Given the description of an element on the screen output the (x, y) to click on. 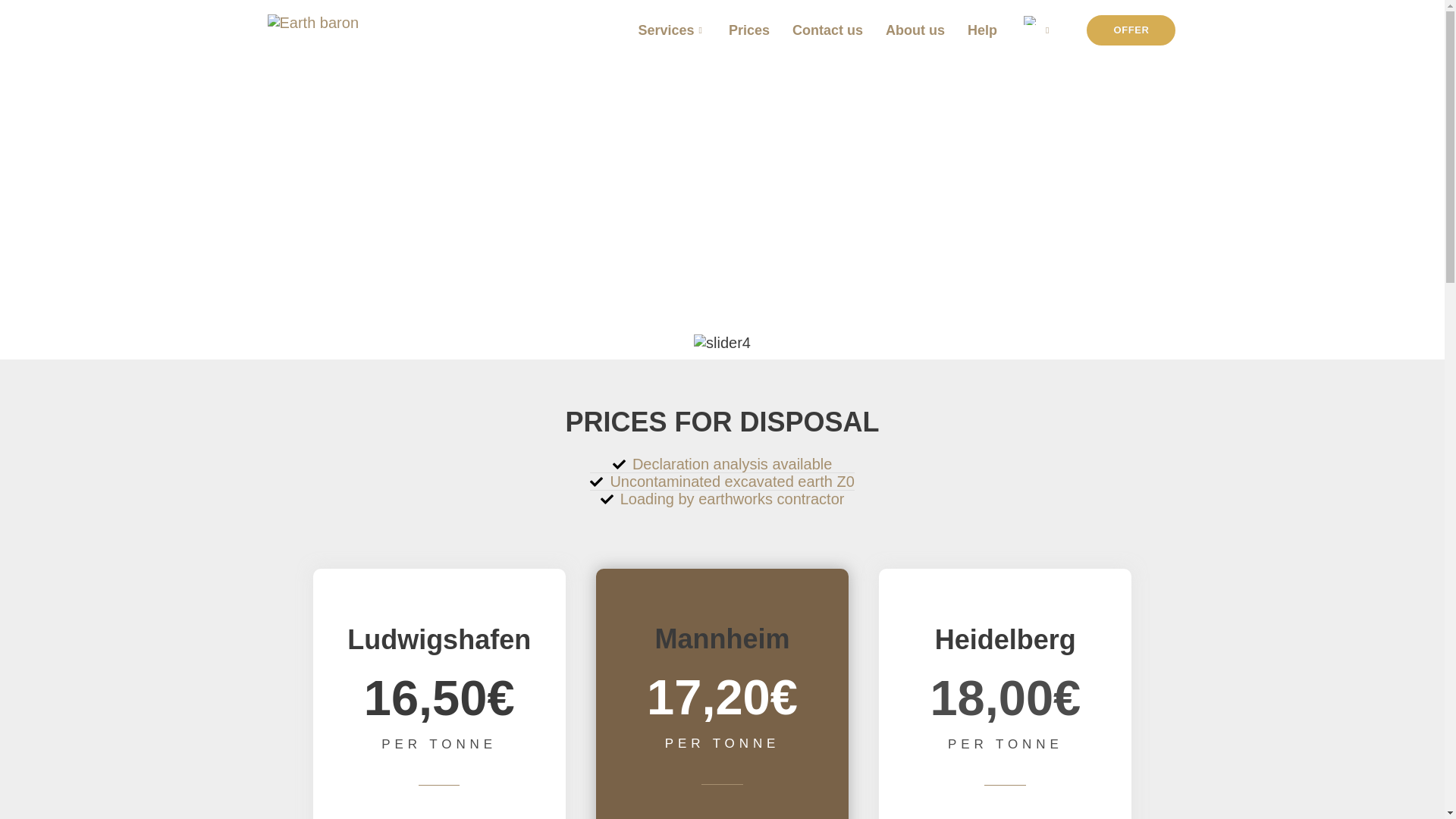
About us (915, 30)
Prices (748, 30)
Contact us (827, 30)
Services (671, 30)
